Given the description of an element on the screen output the (x, y) to click on. 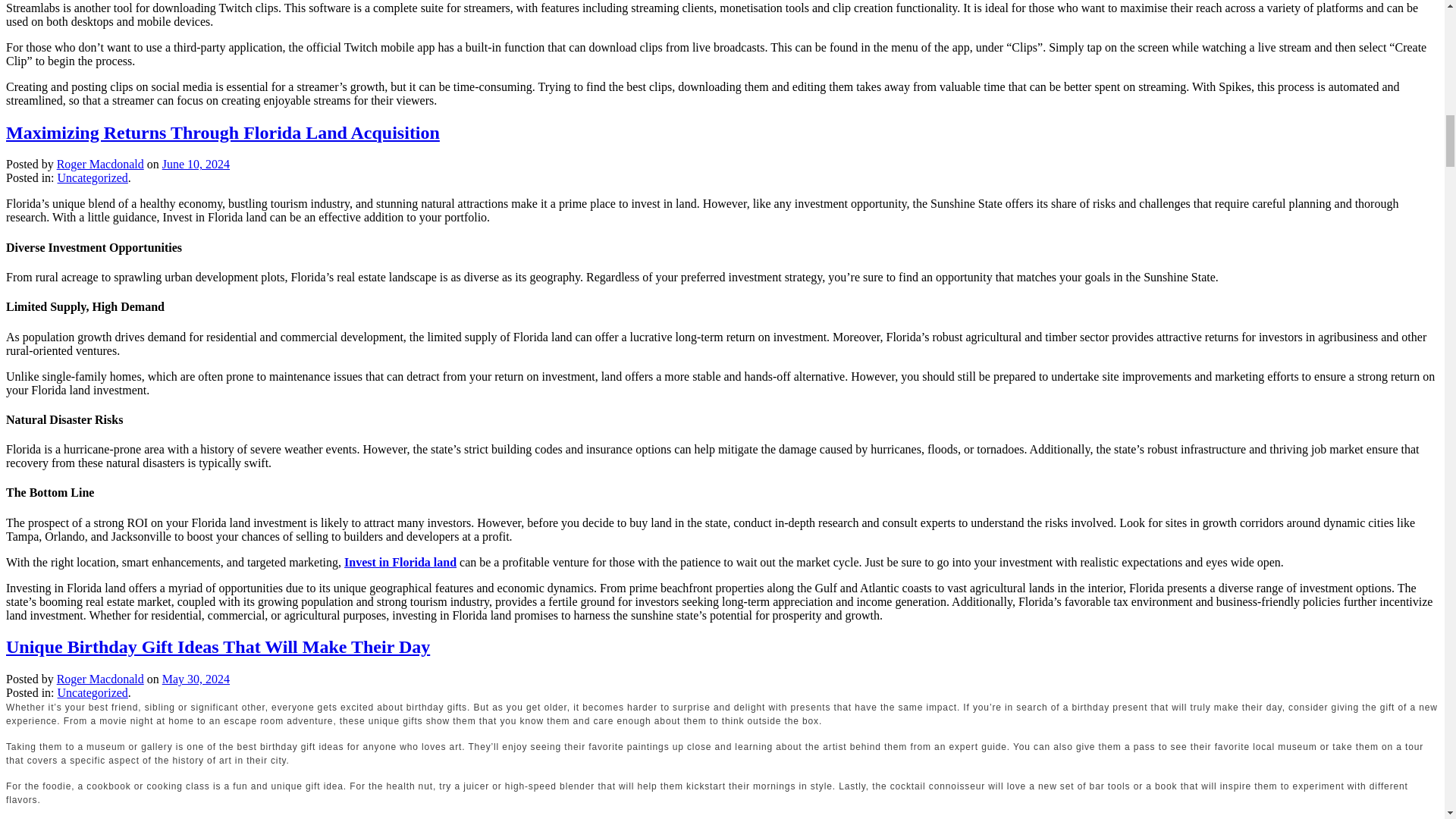
Uncategorized (93, 692)
Roger Macdonald (100, 164)
June 10, 2024 (195, 164)
Uncategorized (93, 177)
View all posts by Roger Macdonald (100, 678)
View all posts by Roger Macdonald (100, 164)
May 30, 2024 (195, 678)
Maximizing Returns Through Florida Land Acquisition (222, 132)
Invest in Florida land (400, 562)
Unique Birthday Gift Ideas That Will Make Their Day (217, 646)
Roger Macdonald (100, 678)
